Given the description of an element on the screen output the (x, y) to click on. 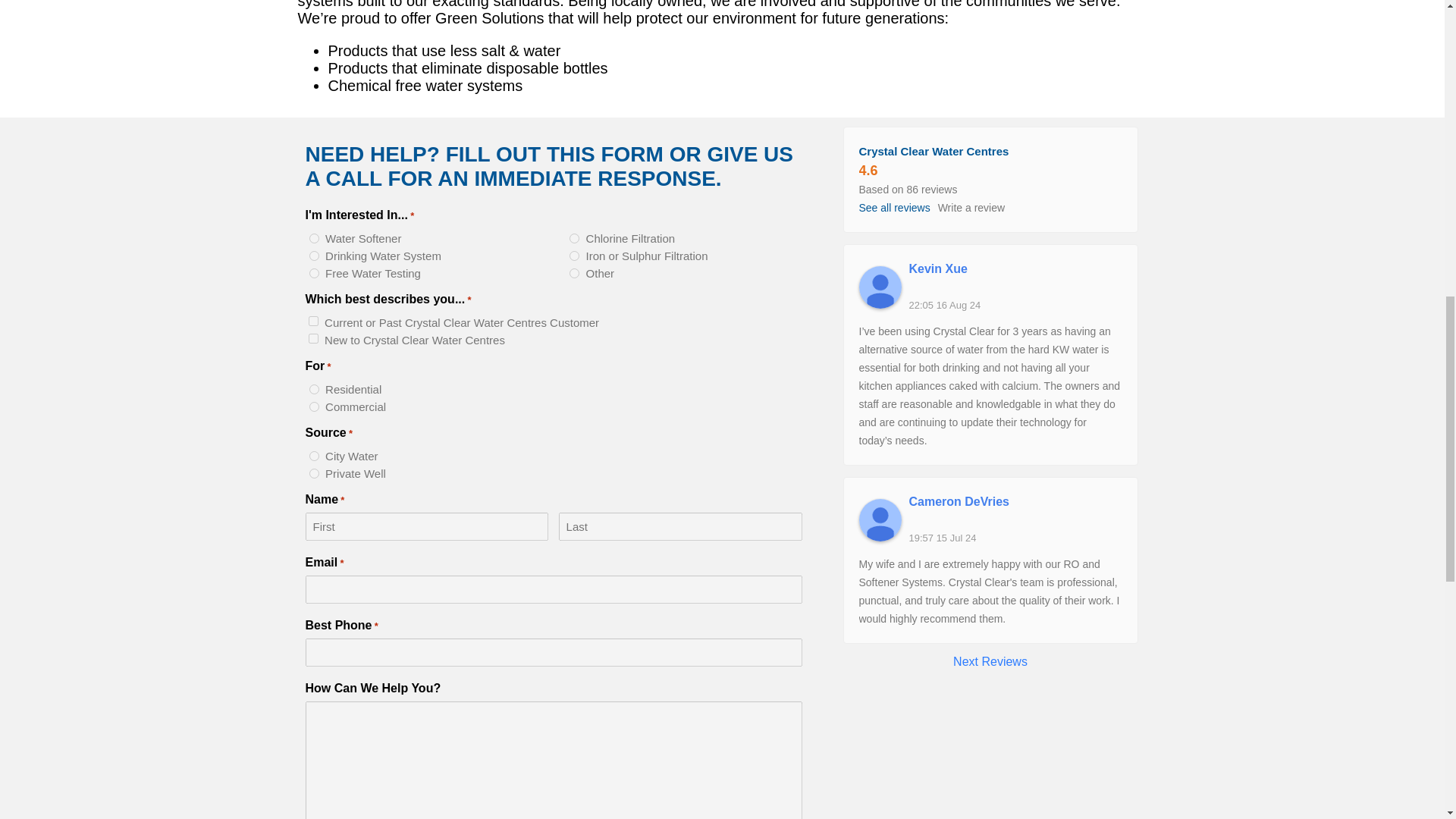
Kevin Xue (880, 287)
Iron or Sulphur Filtration (574, 255)
Private Well (313, 473)
Drinking Water System (313, 255)
Residential (313, 388)
City Water (313, 456)
Current or Past Crystal Clear Water Centres Customer (312, 320)
New to Crystal Clear Water Centres (312, 338)
Cameron DeVries (1014, 502)
Cameron DeVries (880, 519)
